Given the description of an element on the screen output the (x, y) to click on. 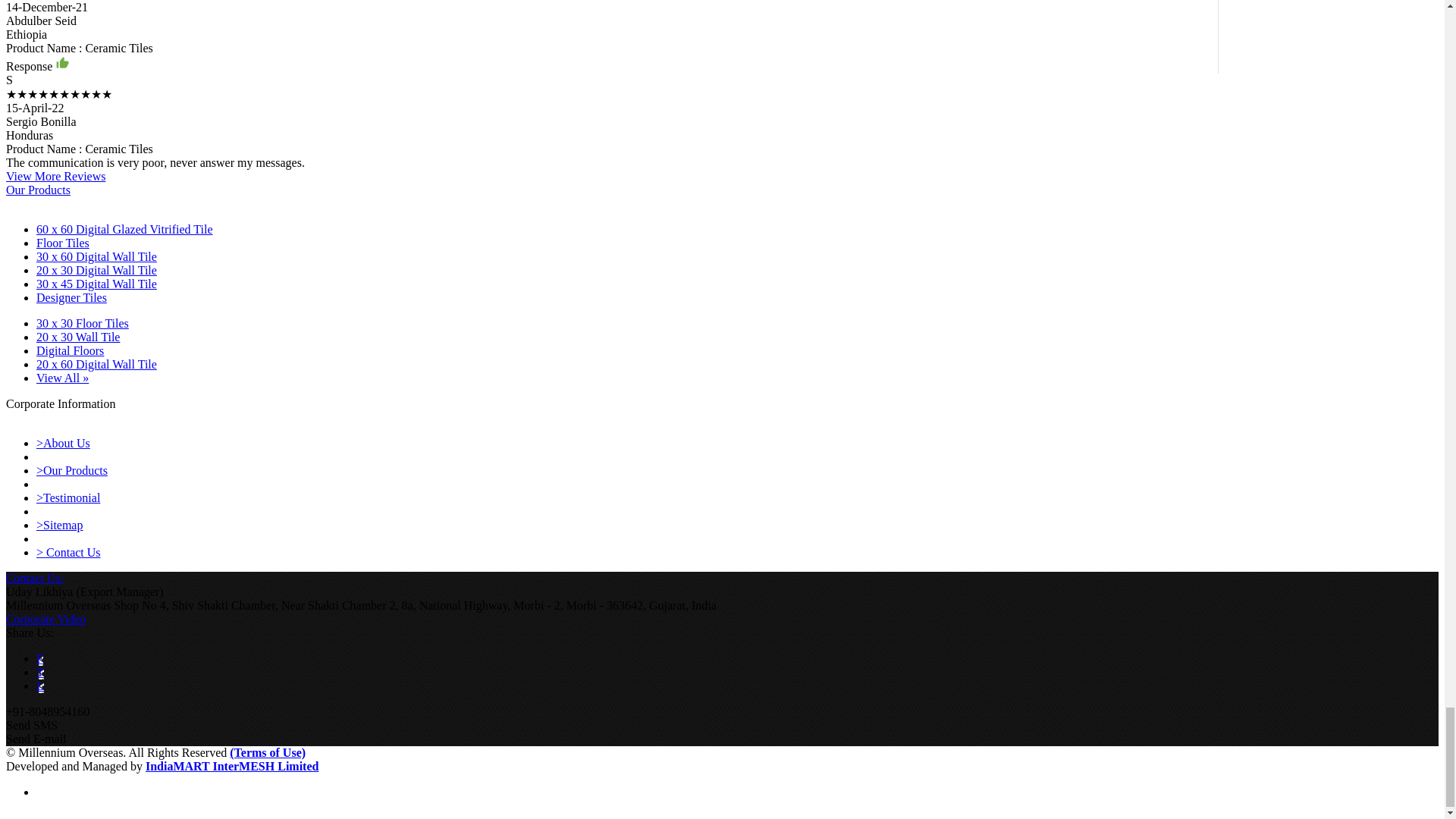
Floor Tiles (62, 242)
60 x 60 Digital Glazed Vitrified Tile (124, 228)
30 x 60 Digital Wall Tile (96, 256)
